Given the description of an element on the screen output the (x, y) to click on. 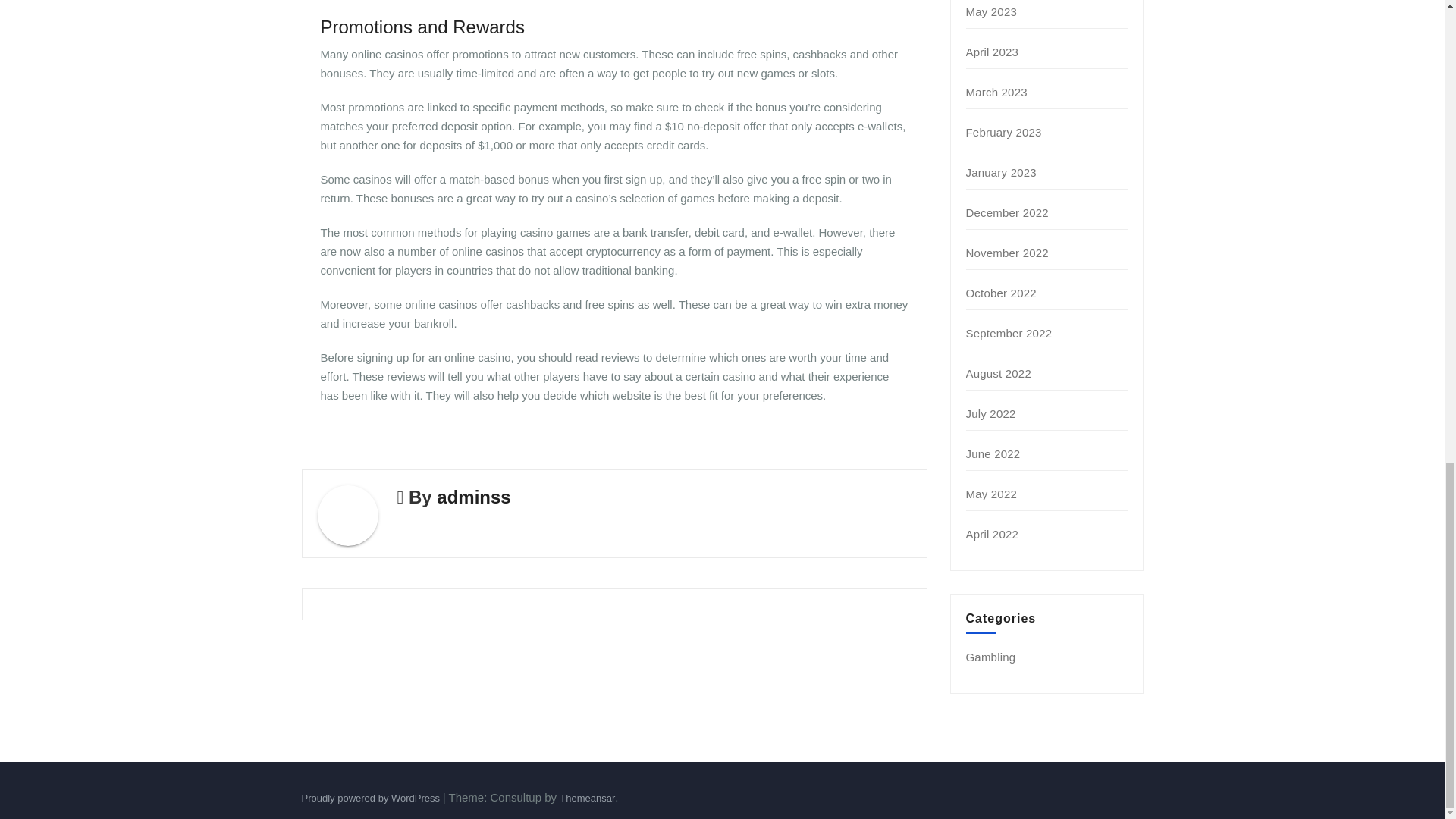
July 2022 (991, 413)
December 2022 (1007, 212)
Gambling (991, 656)
June 2022 (993, 453)
March 2023 (996, 91)
adminss (473, 496)
April 2023 (992, 51)
October 2022 (1001, 292)
November 2022 (1007, 252)
Proudly powered by WordPress (371, 797)
